Given the description of an element on the screen output the (x, y) to click on. 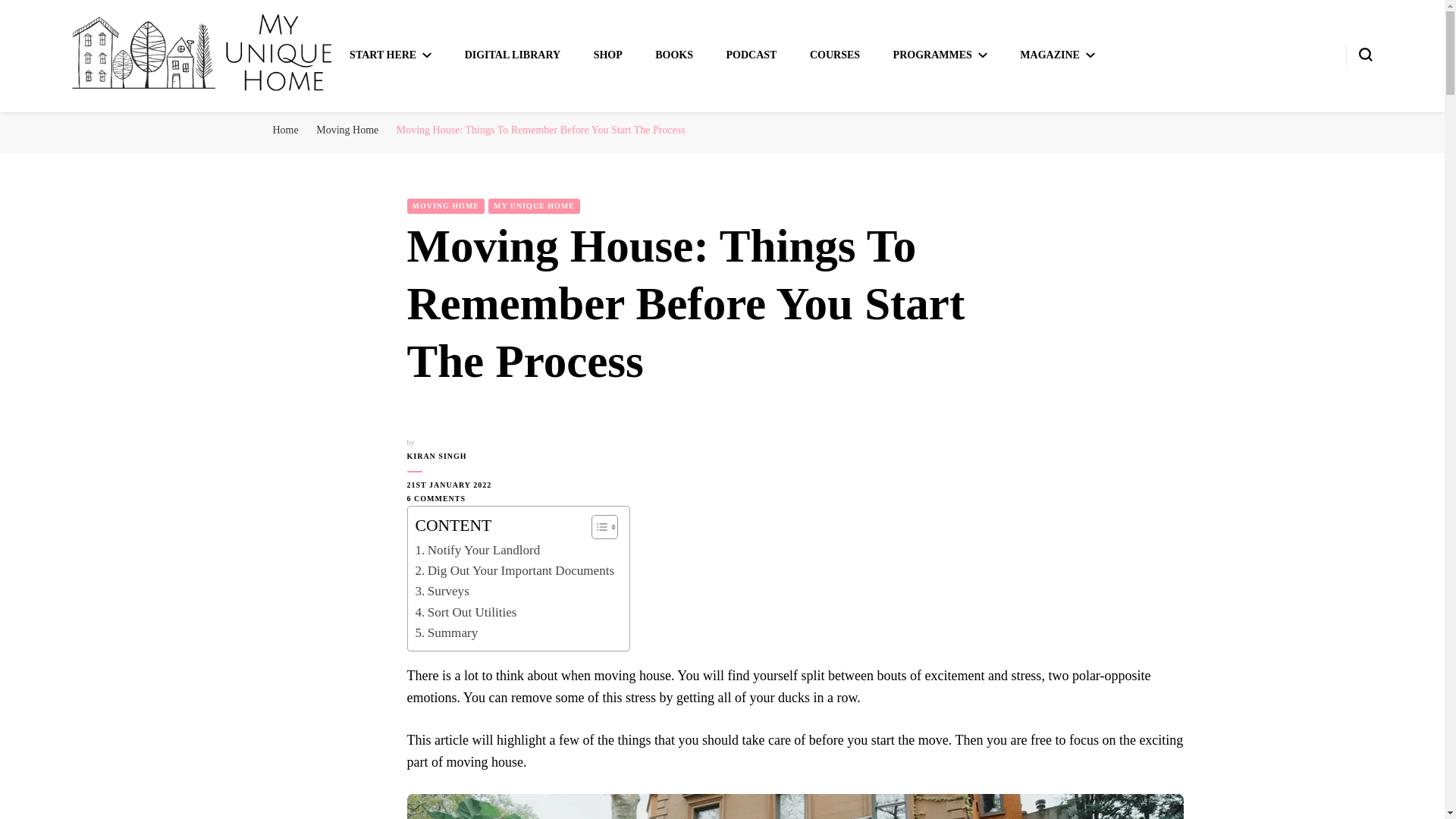
Dig Out Your Important Documents (514, 570)
Notify Your Landlord (477, 549)
Surveys (441, 590)
Summary (446, 632)
Sort Out Utilities (465, 611)
